Given the description of an element on the screen output the (x, y) to click on. 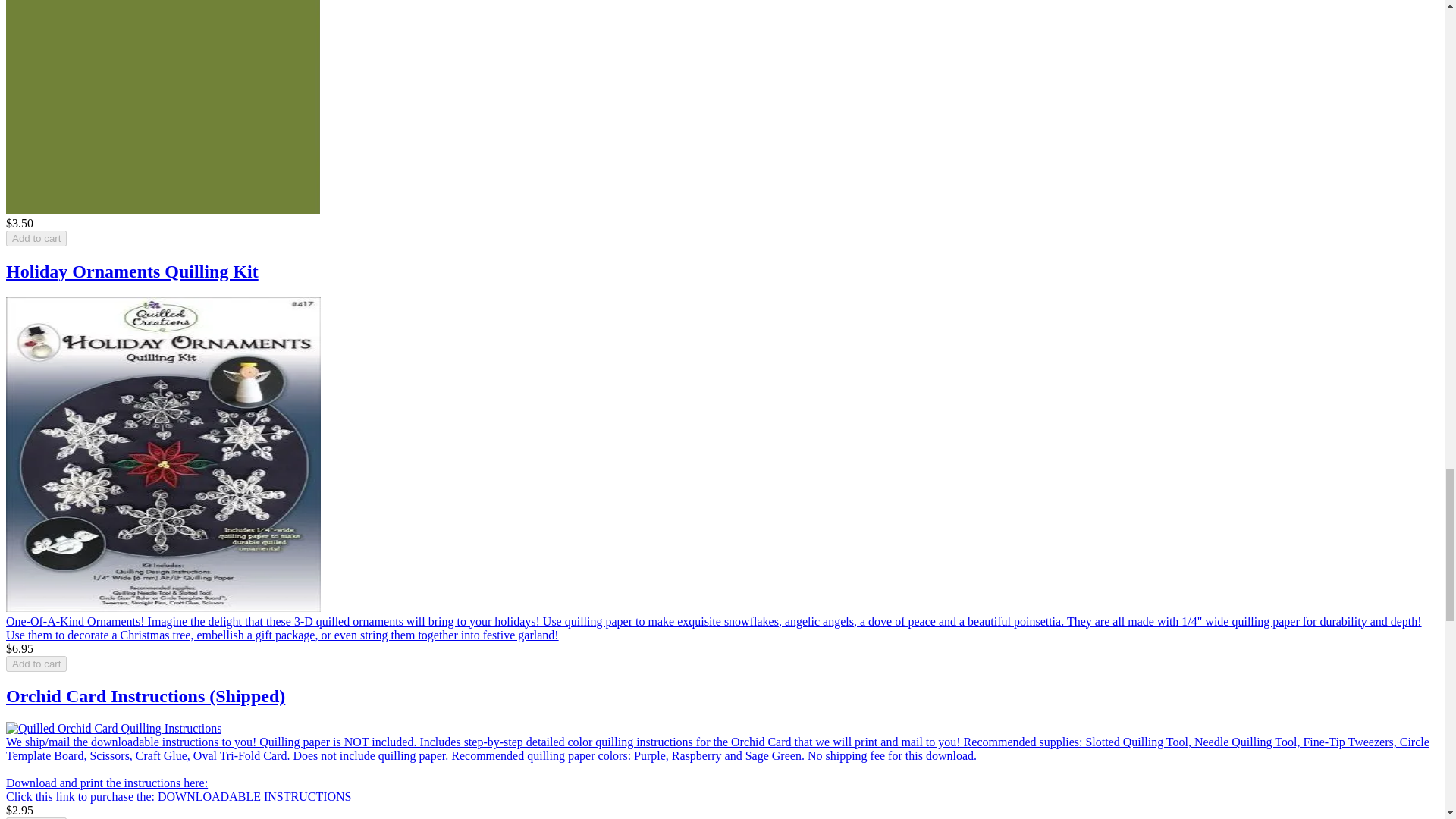
Holiday Ornaments Quilling Kit (162, 606)
Holiday Ornaments Quilling Kit (162, 454)
Quilled Orchid Card Quilling Instructions (113, 728)
Quilled Orchid Card Quilling Instructions (113, 727)
